Given the description of an element on the screen output the (x, y) to click on. 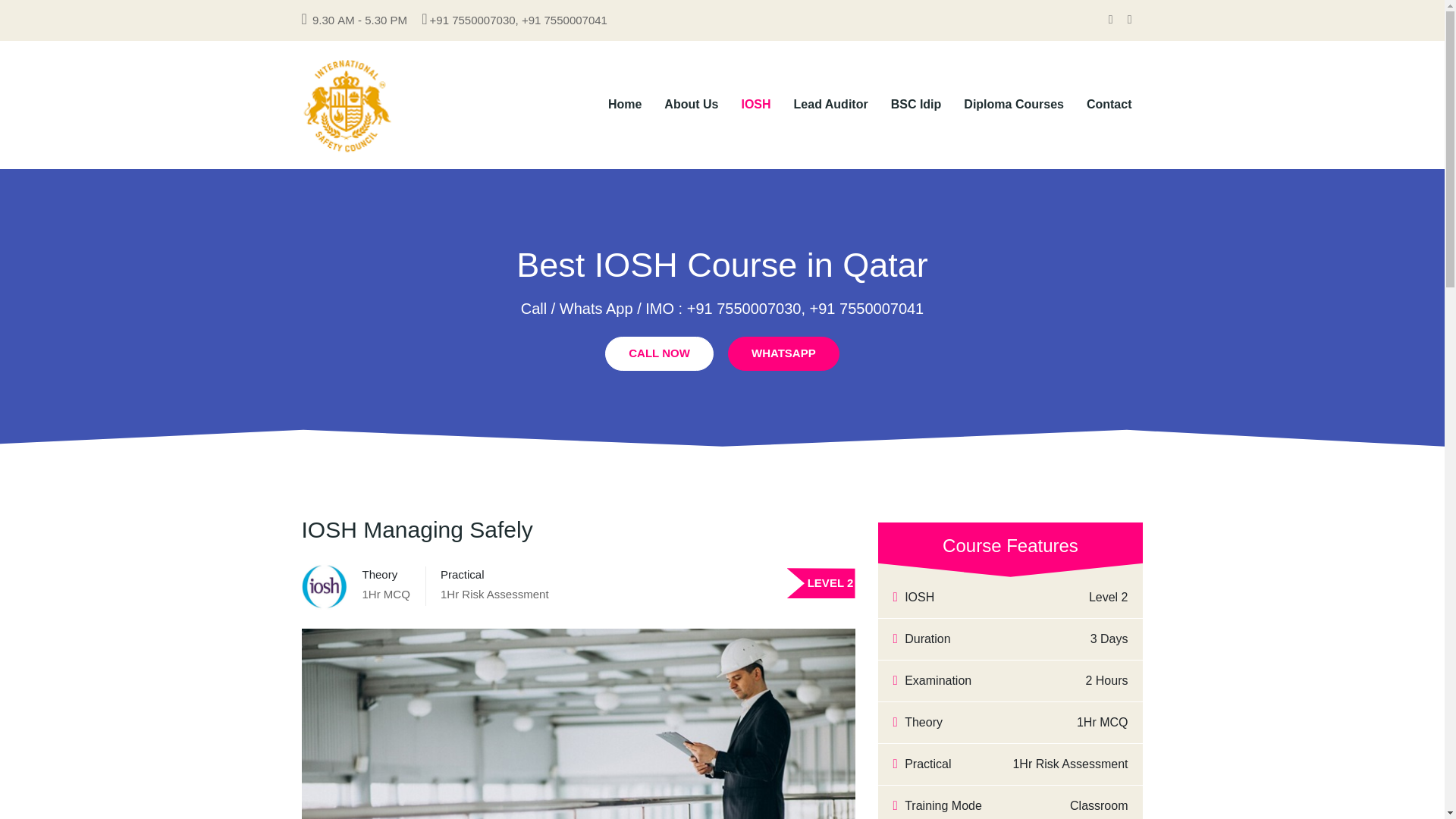
Contact (1108, 104)
About Us (690, 104)
CALL NOW (659, 353)
Theory (379, 574)
WHATSAPP (784, 353)
BSC Idip (916, 104)
Home (624, 104)
Lead Auditor (831, 104)
IOSH (755, 104)
Practical (462, 574)
